Given the description of an element on the screen output the (x, y) to click on. 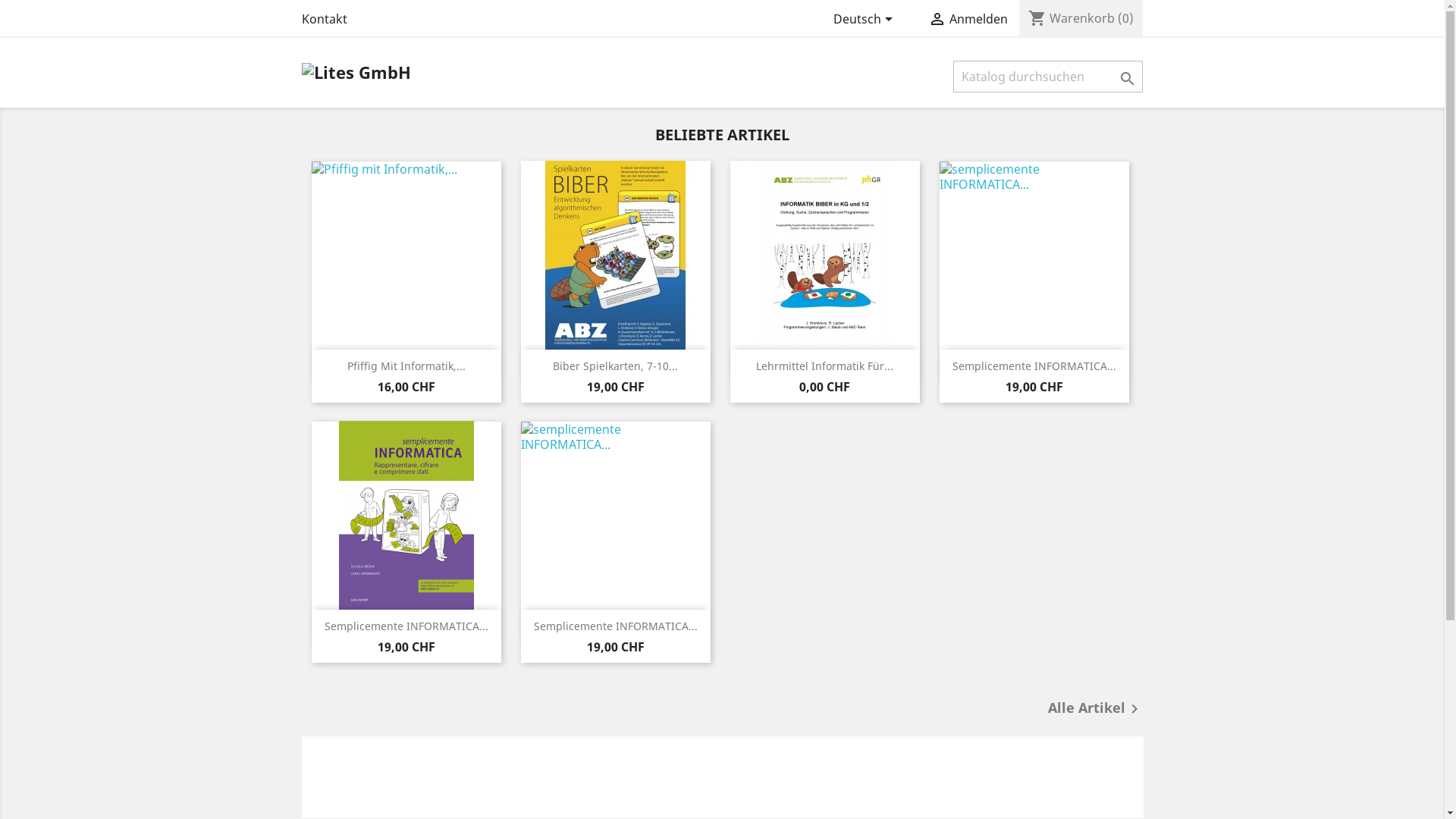
Kontakt Element type: text (324, 18)
Semplicemente INFORMATICA... Element type: text (615, 625)
Semplicemente INFORMATICA... Element type: text (1034, 365)
Biber Spielkarten, 7-10... Element type: text (614, 365)
Pfiffig Mit Informatik,... Element type: text (406, 365)
Semplicemente INFORMATICA... Element type: text (406, 625)
